Given the description of an element on the screen output the (x, y) to click on. 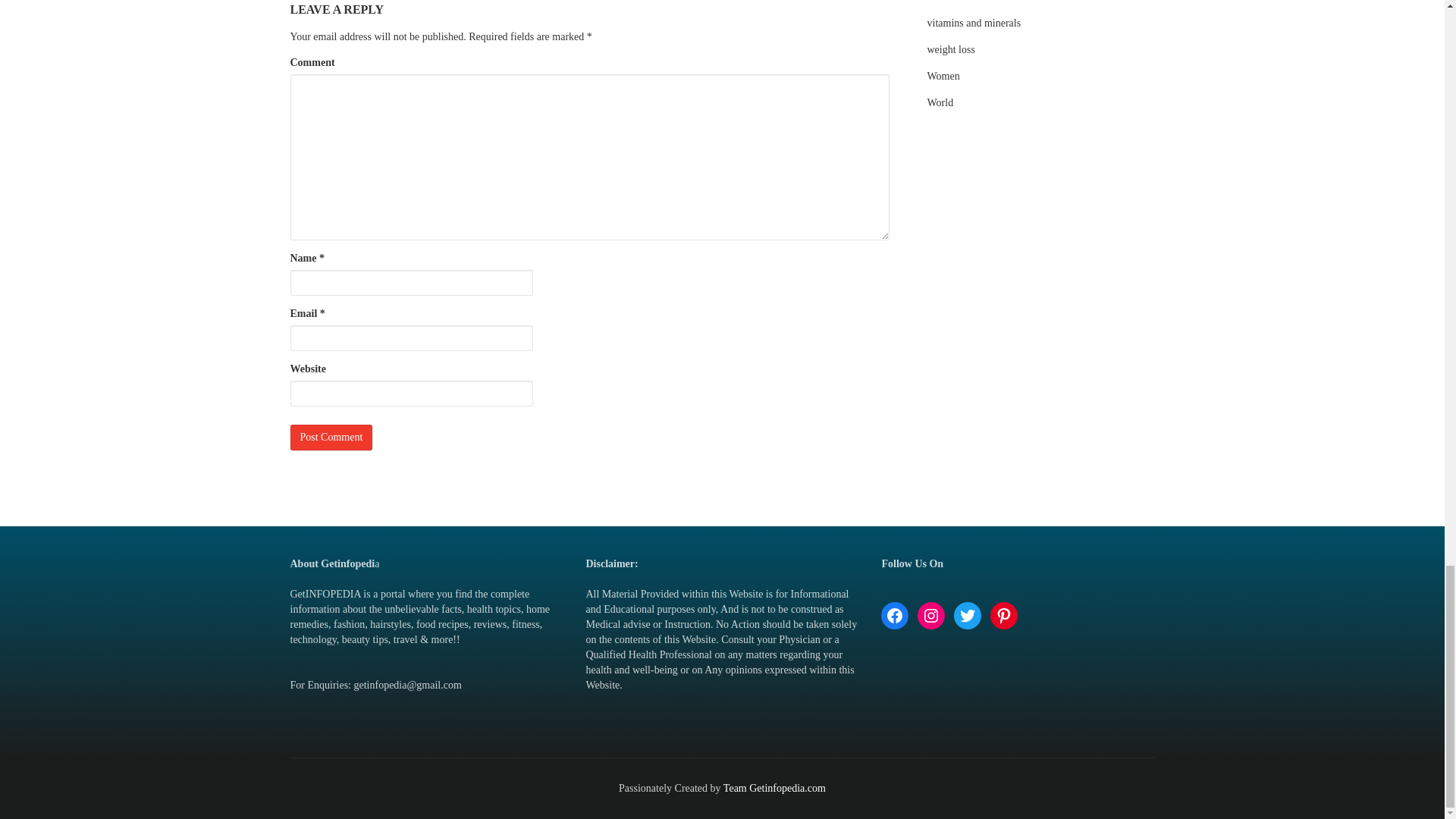
Post Comment (330, 437)
Post Comment (330, 437)
